Given the description of an element on the screen output the (x, y) to click on. 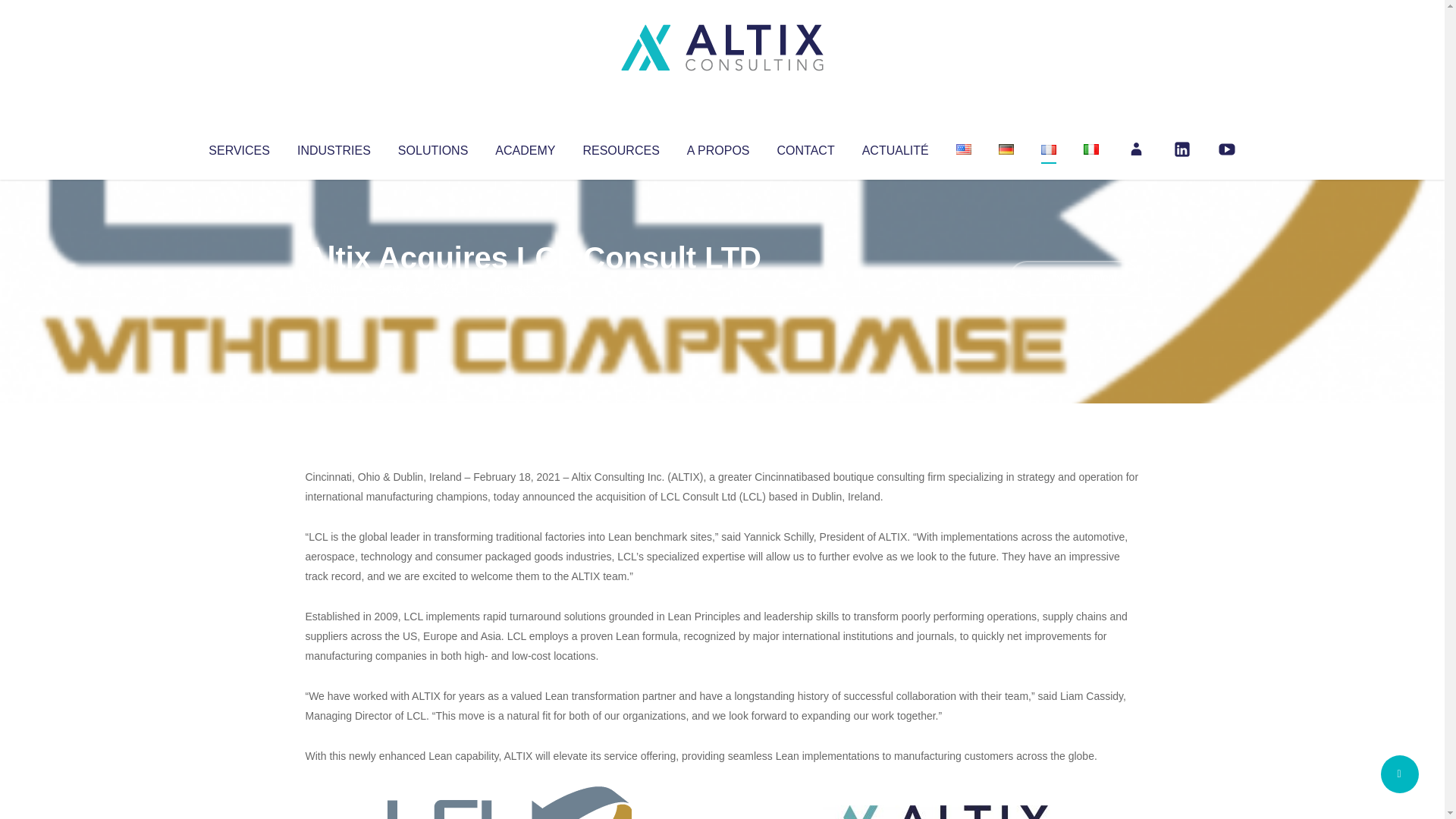
Articles par Altix (333, 287)
INDUSTRIES (334, 146)
ACADEMY (524, 146)
SOLUTIONS (432, 146)
Altix (333, 287)
A PROPOS (718, 146)
RESOURCES (620, 146)
No Comments (1073, 278)
Uncategorized (530, 287)
SERVICES (238, 146)
